Given the description of an element on the screen output the (x, y) to click on. 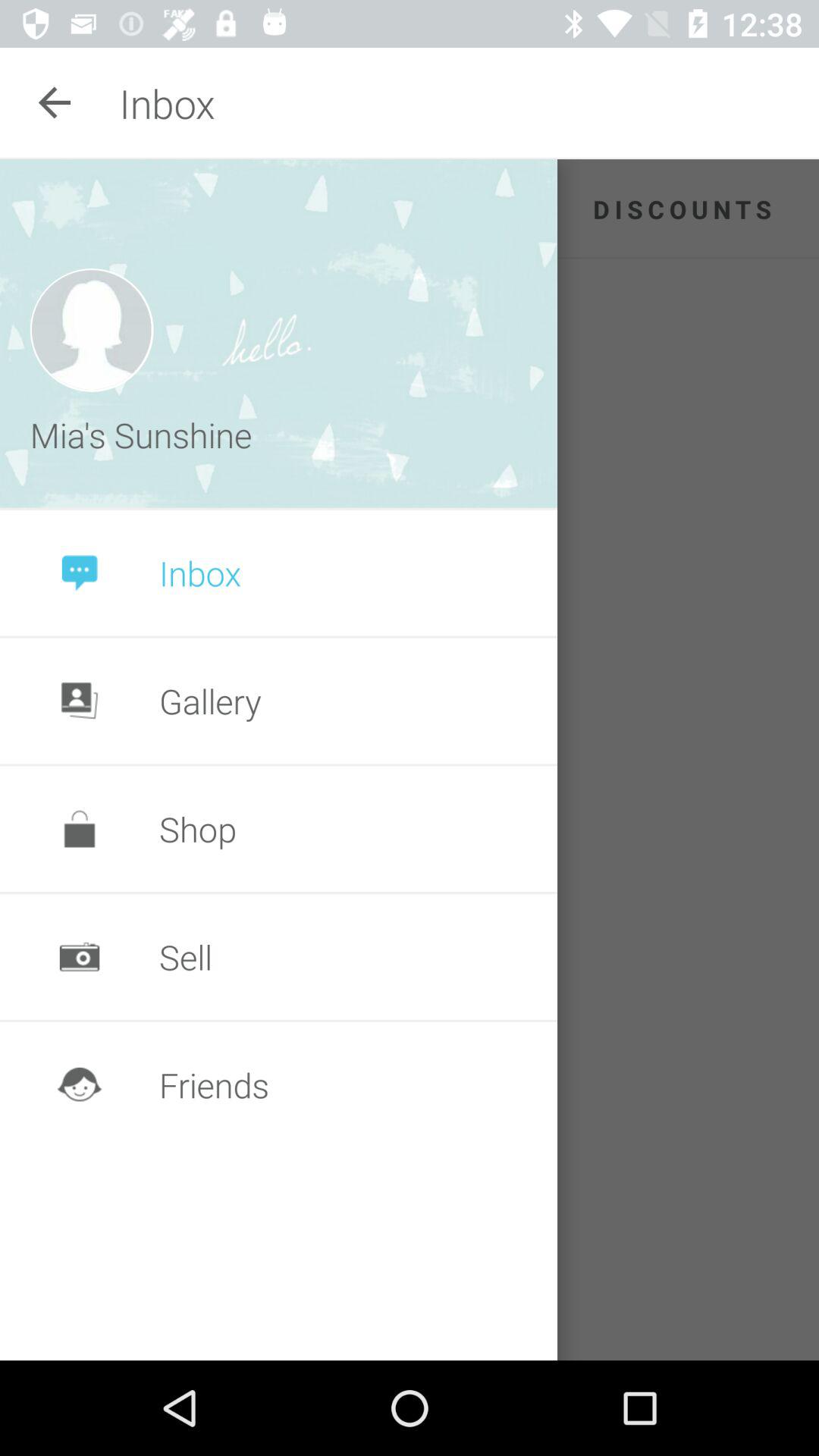
tap icon above mia's sunshine (91, 329)
